Given the description of an element on the screen output the (x, y) to click on. 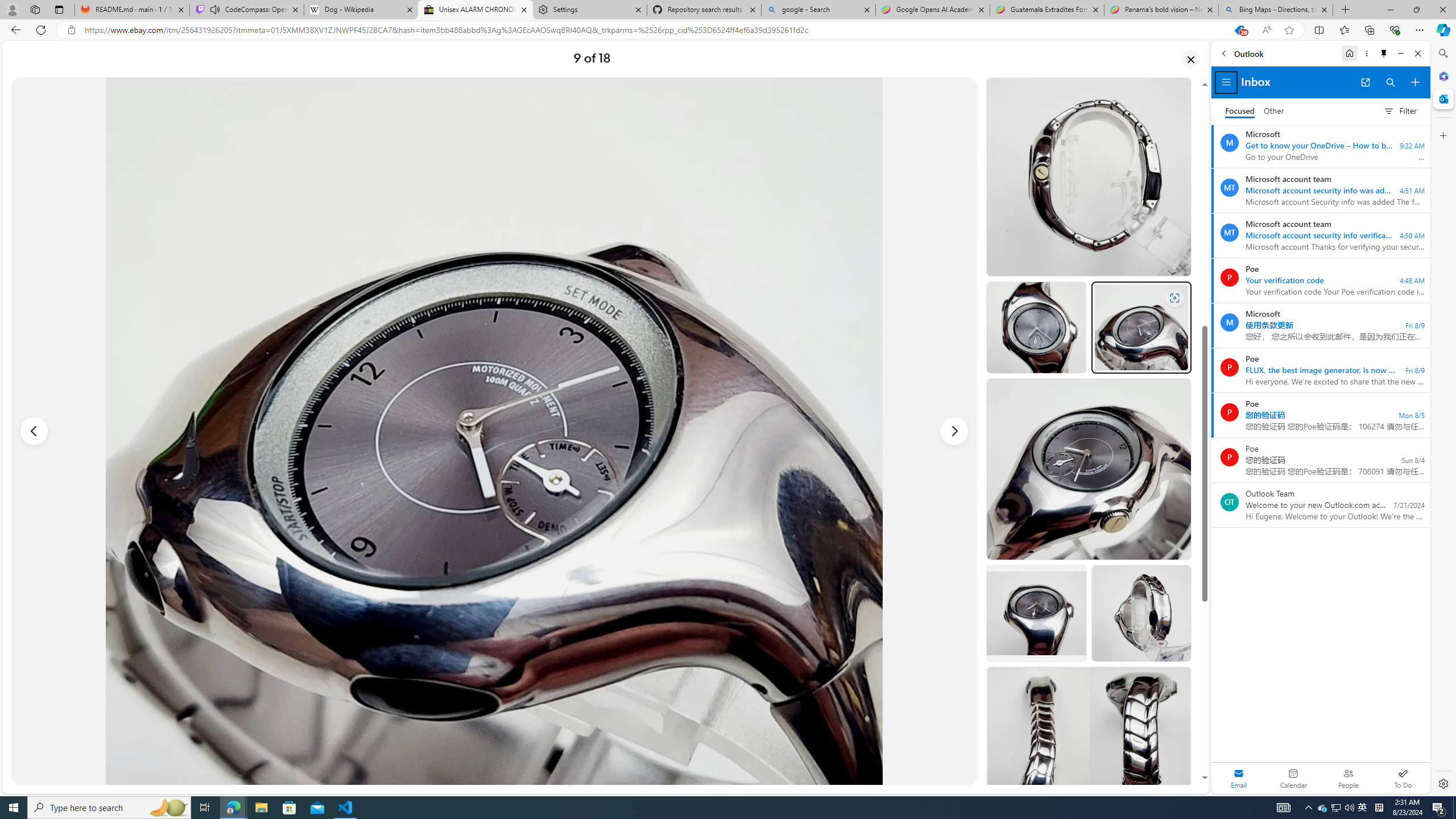
Favorites (1344, 29)
Refresh (40, 29)
You have the best price! Shopping in Microsoft Edge, 20 (1239, 29)
